Given the description of an element on the screen output the (x, y) to click on. 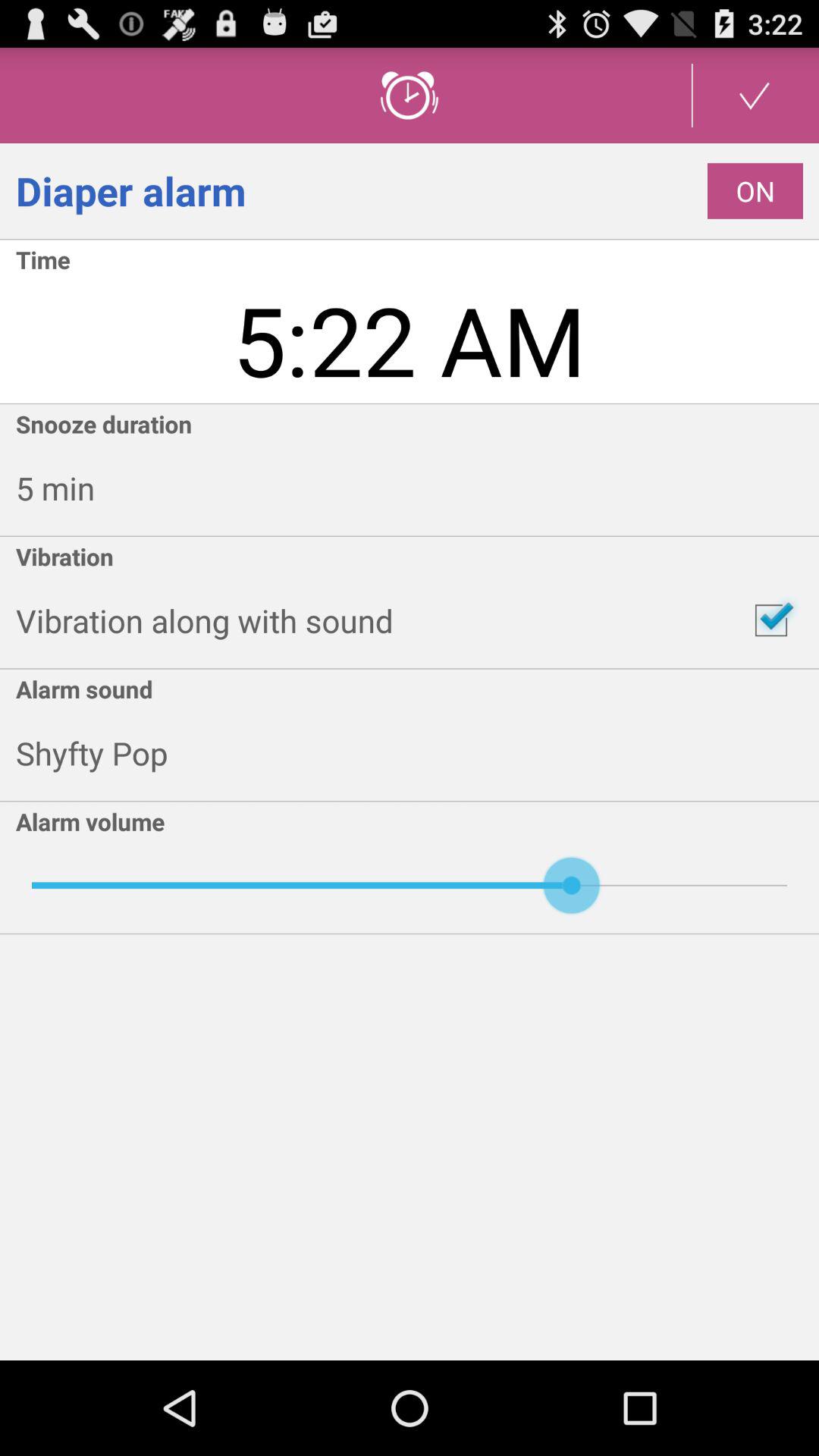
launch item below vibration (771, 620)
